Given the description of an element on the screen output the (x, y) to click on. 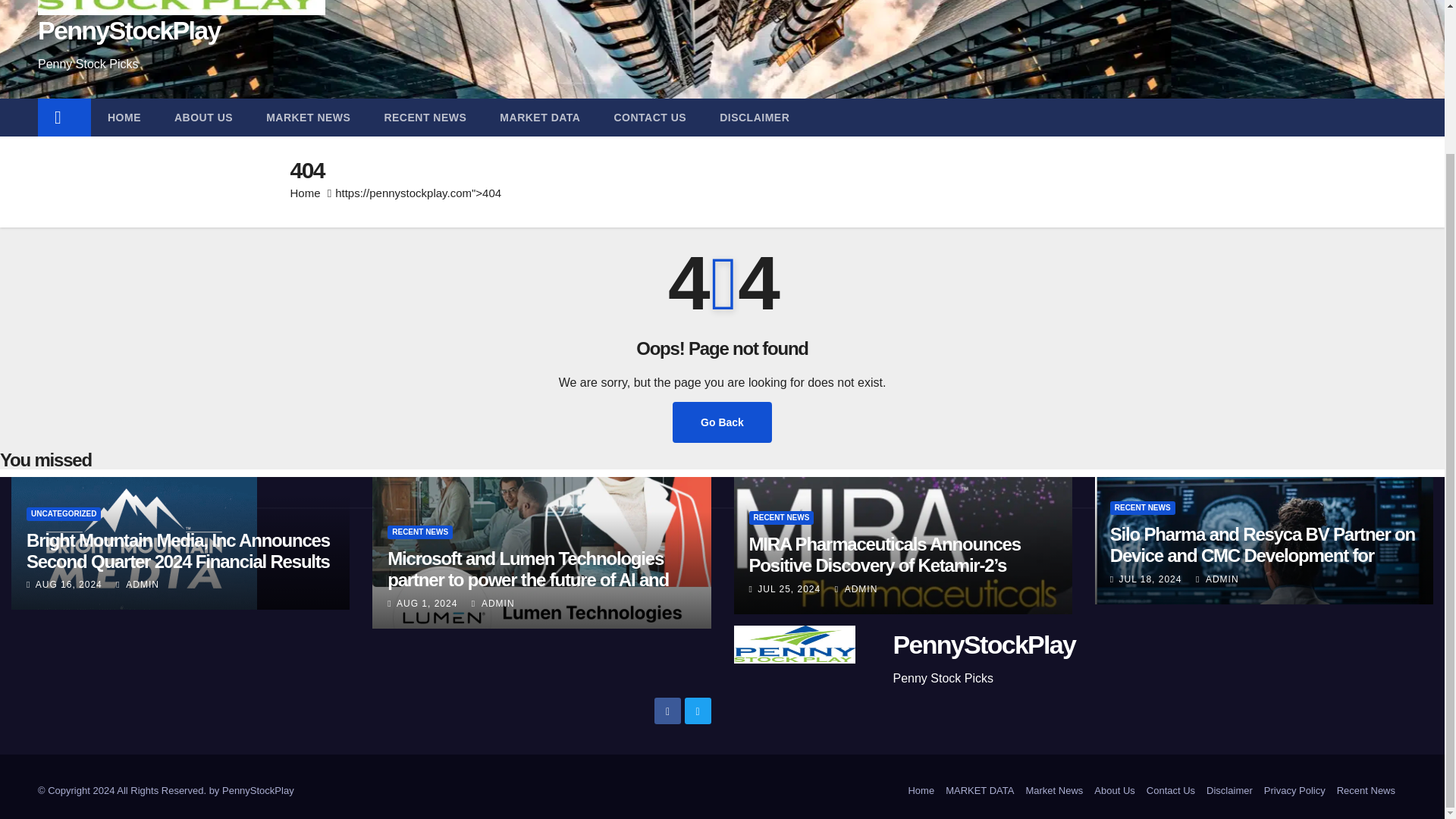
Home (920, 790)
Home (63, 117)
UNCATEGORIZED (63, 513)
JUL 18, 2024 (1149, 579)
AUG 16, 2024 (67, 584)
Home (304, 192)
RECENT NEWS (419, 531)
ADMIN (1217, 579)
HOME (123, 117)
